Given the description of an element on the screen output the (x, y) to click on. 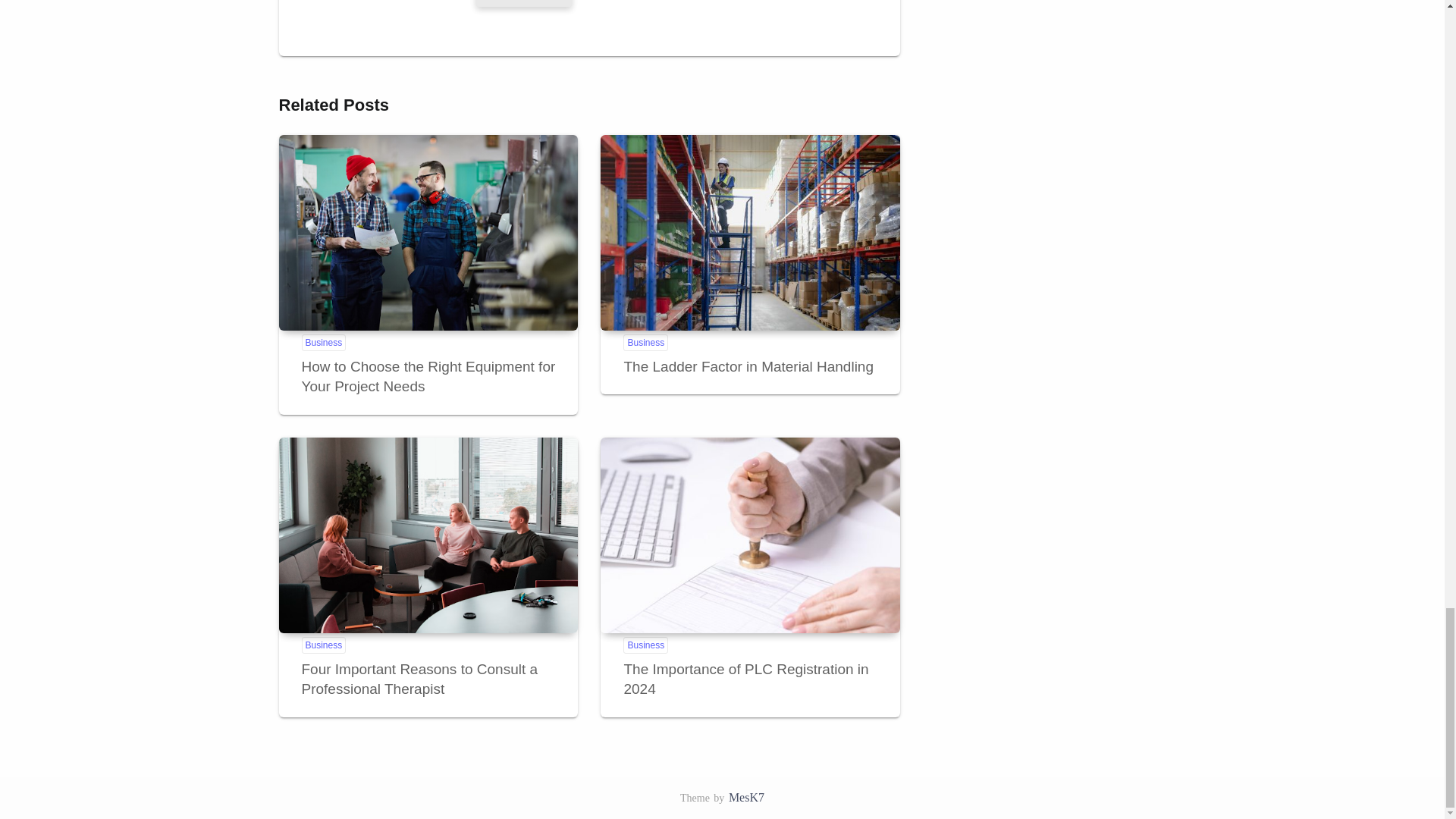
The Importance of PLC Registration in 2024 (745, 678)
Four Important Reasons to Consult a Professional Therapist (428, 535)
Four Important Reasons to Consult a Professional Therapist (419, 678)
The Ladder Factor in Material Handling (749, 232)
MesK7 (746, 797)
Business (645, 342)
Business (323, 645)
How to Choose the Right Equipment for Your Project Needs (428, 232)
The Importance of PLC Registration in 2024 (749, 535)
Business (645, 645)
